Given the description of an element on the screen output the (x, y) to click on. 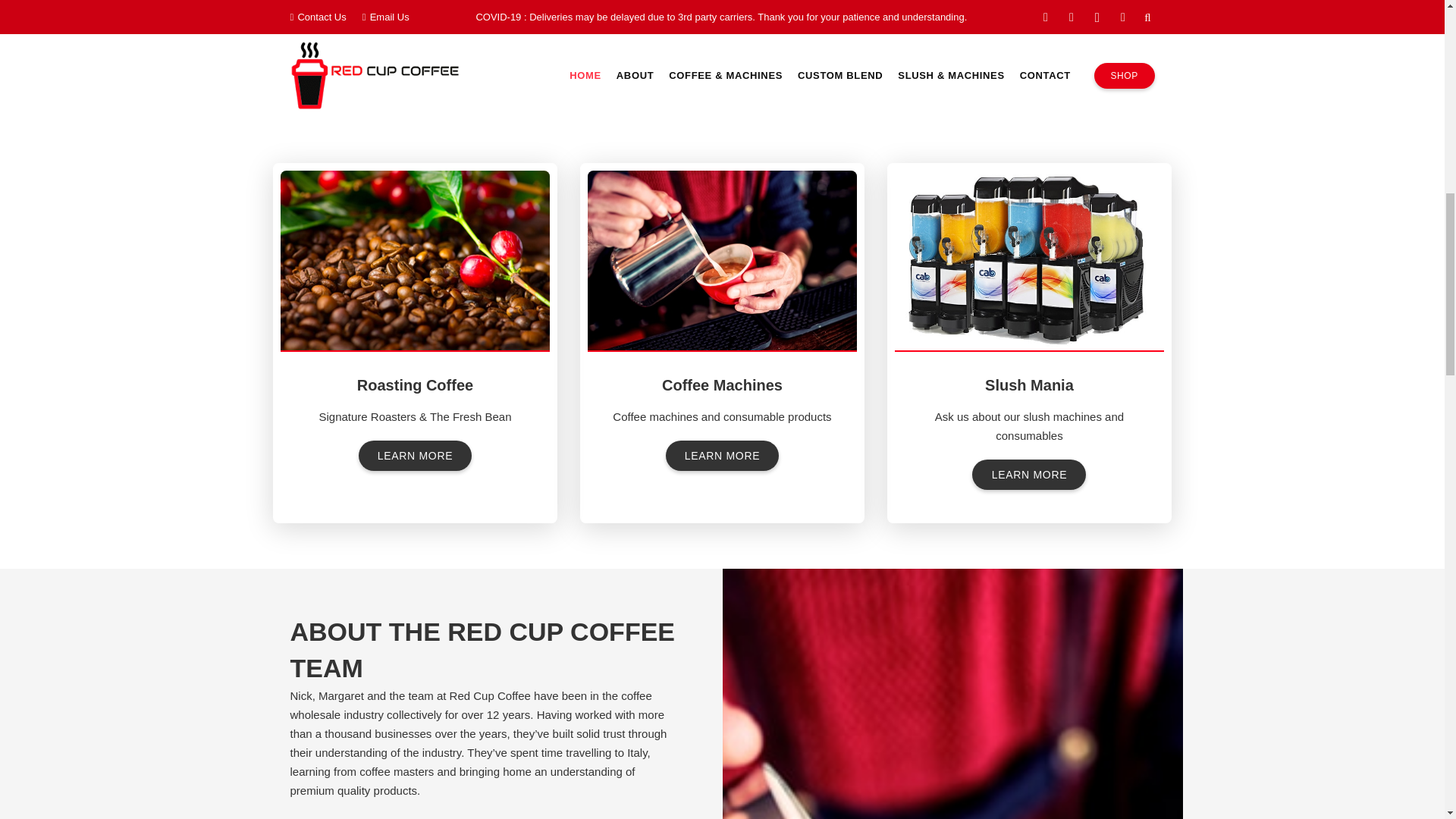
LEARN MORE (1029, 473)
LEARN MORE (721, 455)
Back to top (30, 26)
Youtube video player (946, 36)
LEARN MORE (414, 455)
